Given the description of an element on the screen output the (x, y) to click on. 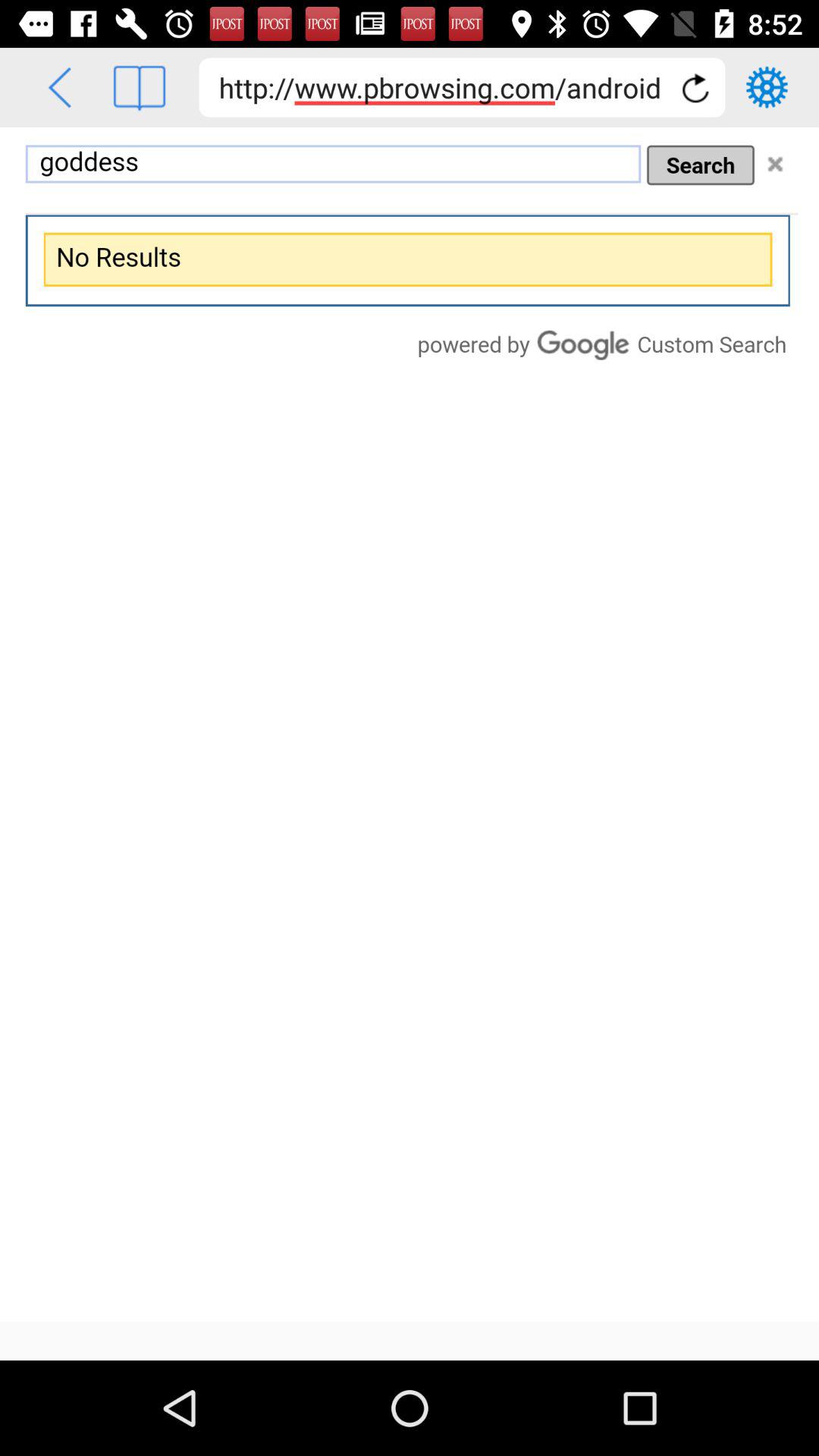
browse search (409, 724)
